Given the description of an element on the screen output the (x, y) to click on. 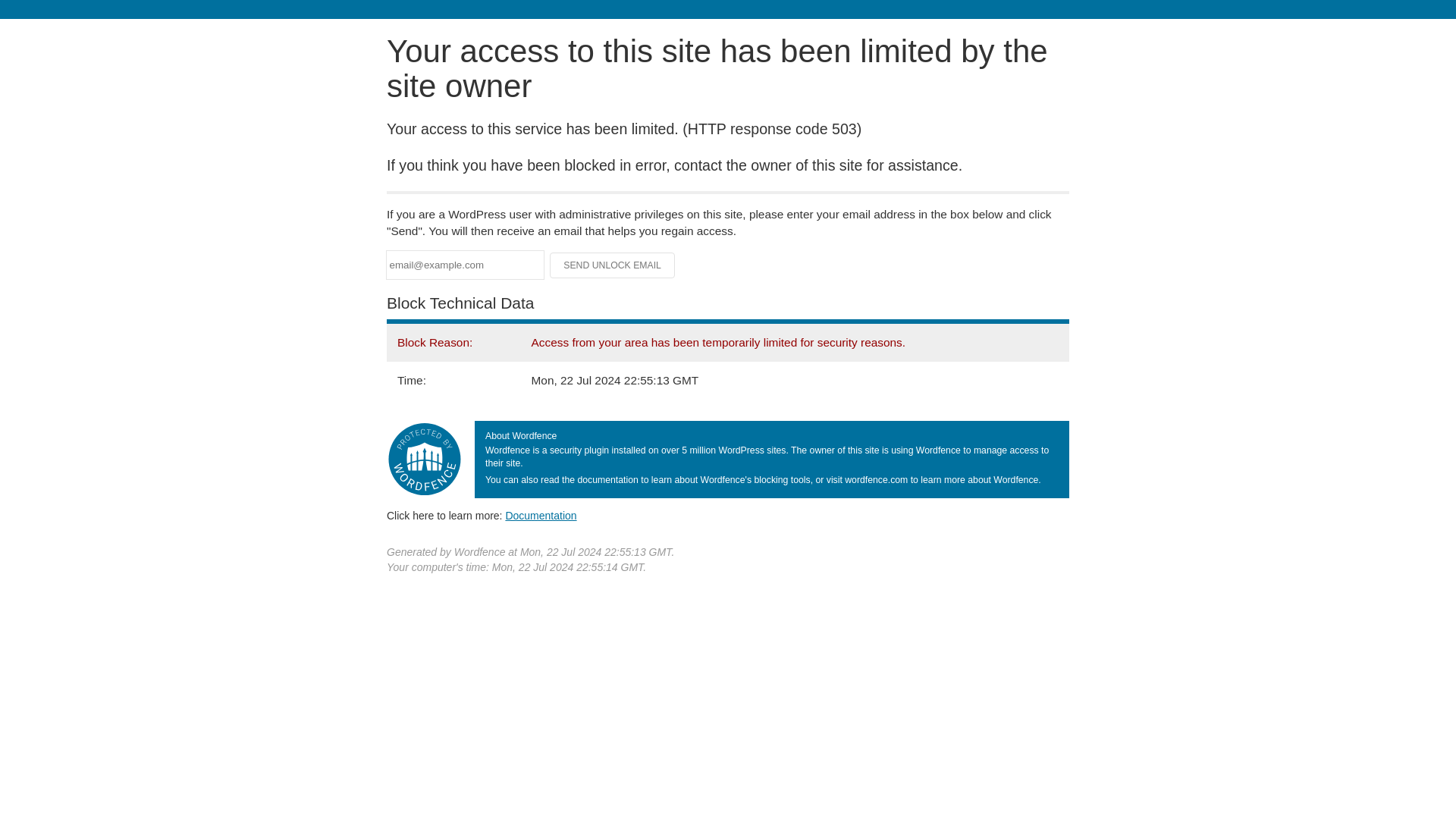
Documentation (540, 515)
Send Unlock Email (612, 265)
Send Unlock Email (612, 265)
